Given the description of an element on the screen output the (x, y) to click on. 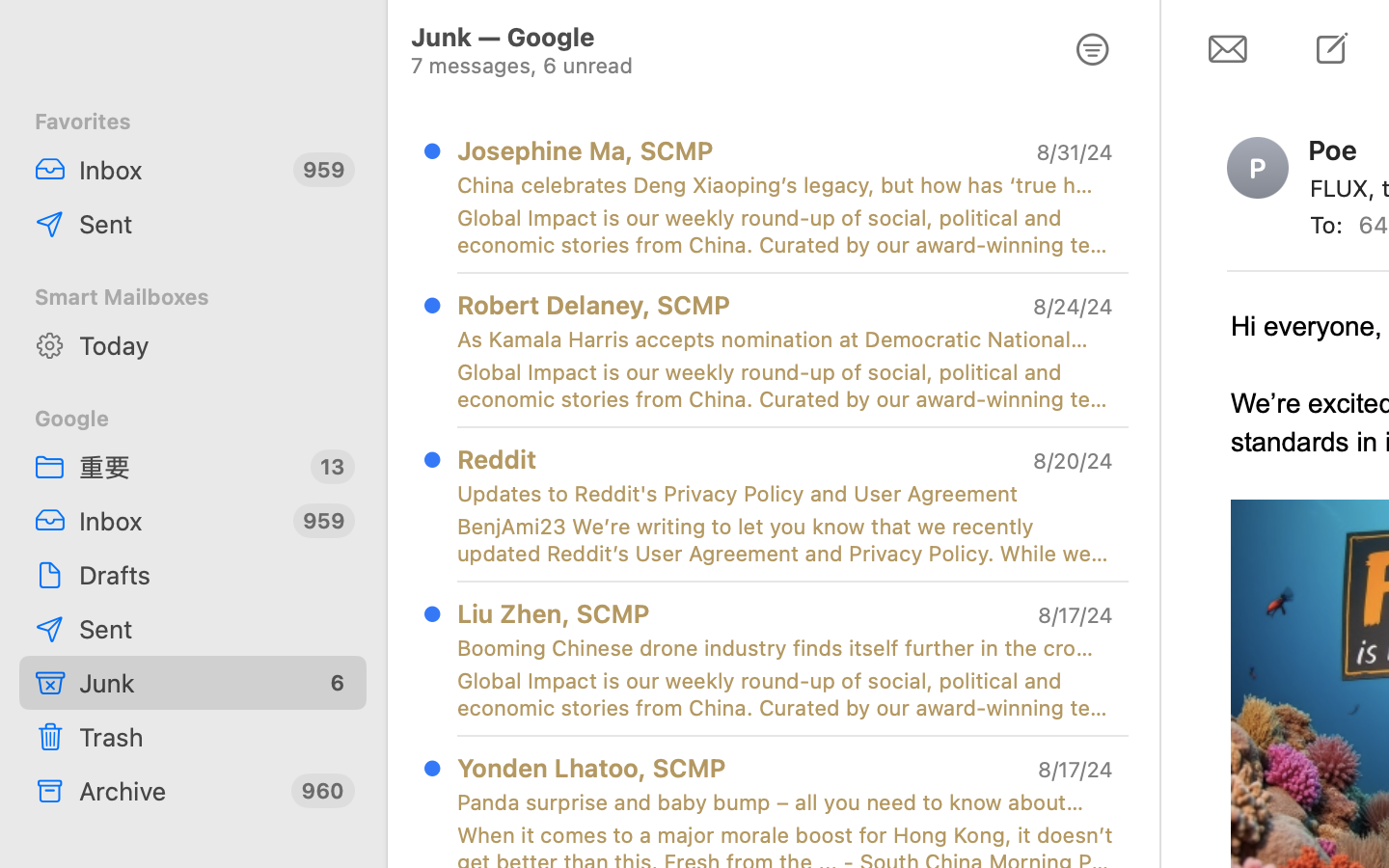
8/31/24 Element type: AXStaticText (1074, 151)
Today Element type: AXTextField (214, 344)
Drafts Element type: AXStaticText (214, 574)
Panda surprise and baby bump – all you need to know about Hong Kong this week Element type: AXStaticText (777, 801)
As Kamala Harris accepts nomination at Democratic National Convention, how large is the ‘China factor’ for the US presidential election? Element type: AXStaticText (777, 338)
